Given the description of an element on the screen output the (x, y) to click on. 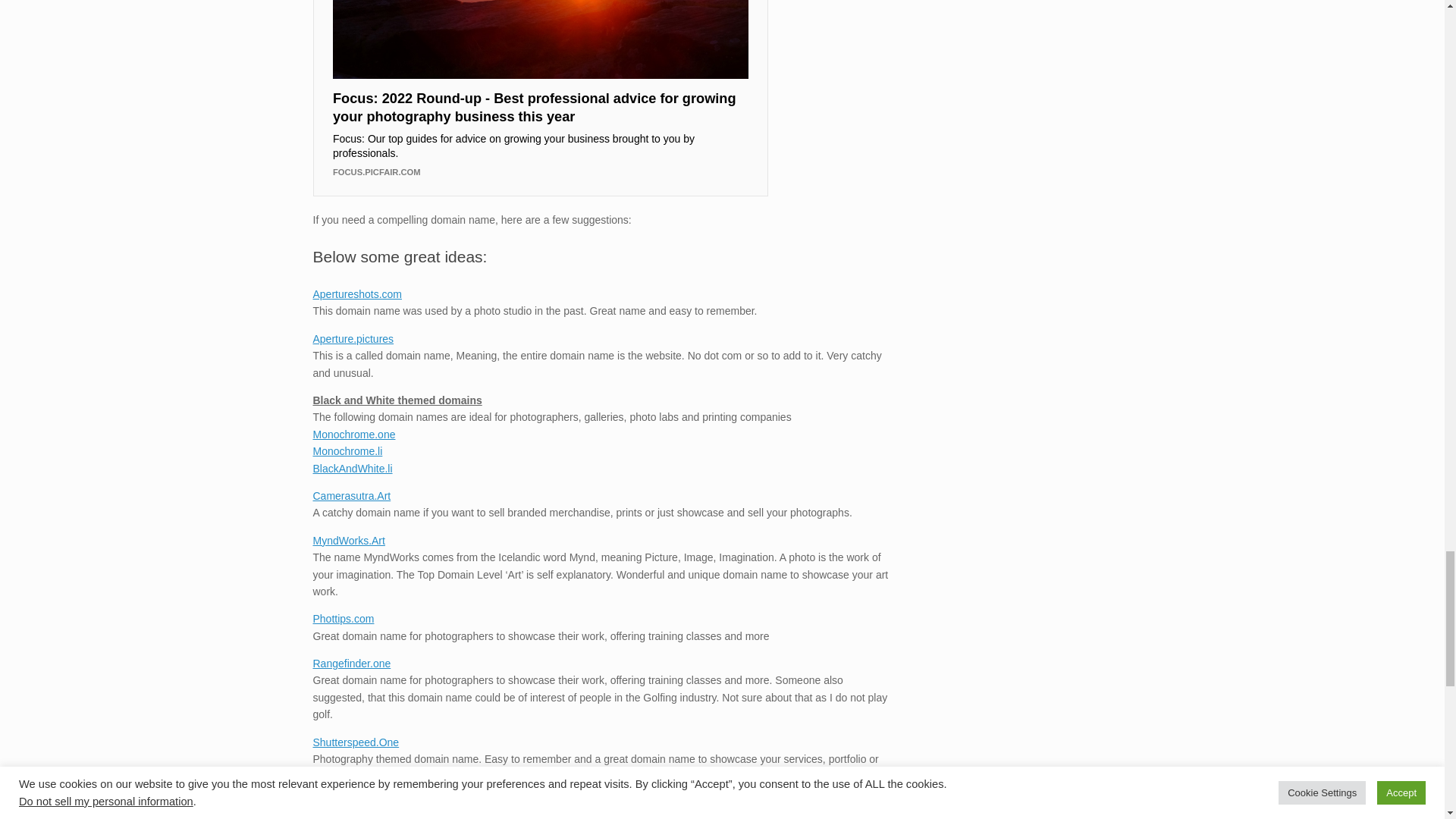
Aperture.pictures (353, 338)
Monochrome.li (347, 451)
Apertureshots.com (357, 294)
Phottips.com (343, 618)
BlackAndWhite.li (352, 468)
Shutterspeed.One (355, 742)
MyndWorks.Art (348, 540)
Rangefinder.one (351, 663)
Monochrome.one (353, 434)
Camerasutra.Art (351, 495)
Viewfinder.One (348, 803)
